Given the description of an element on the screen output the (x, y) to click on. 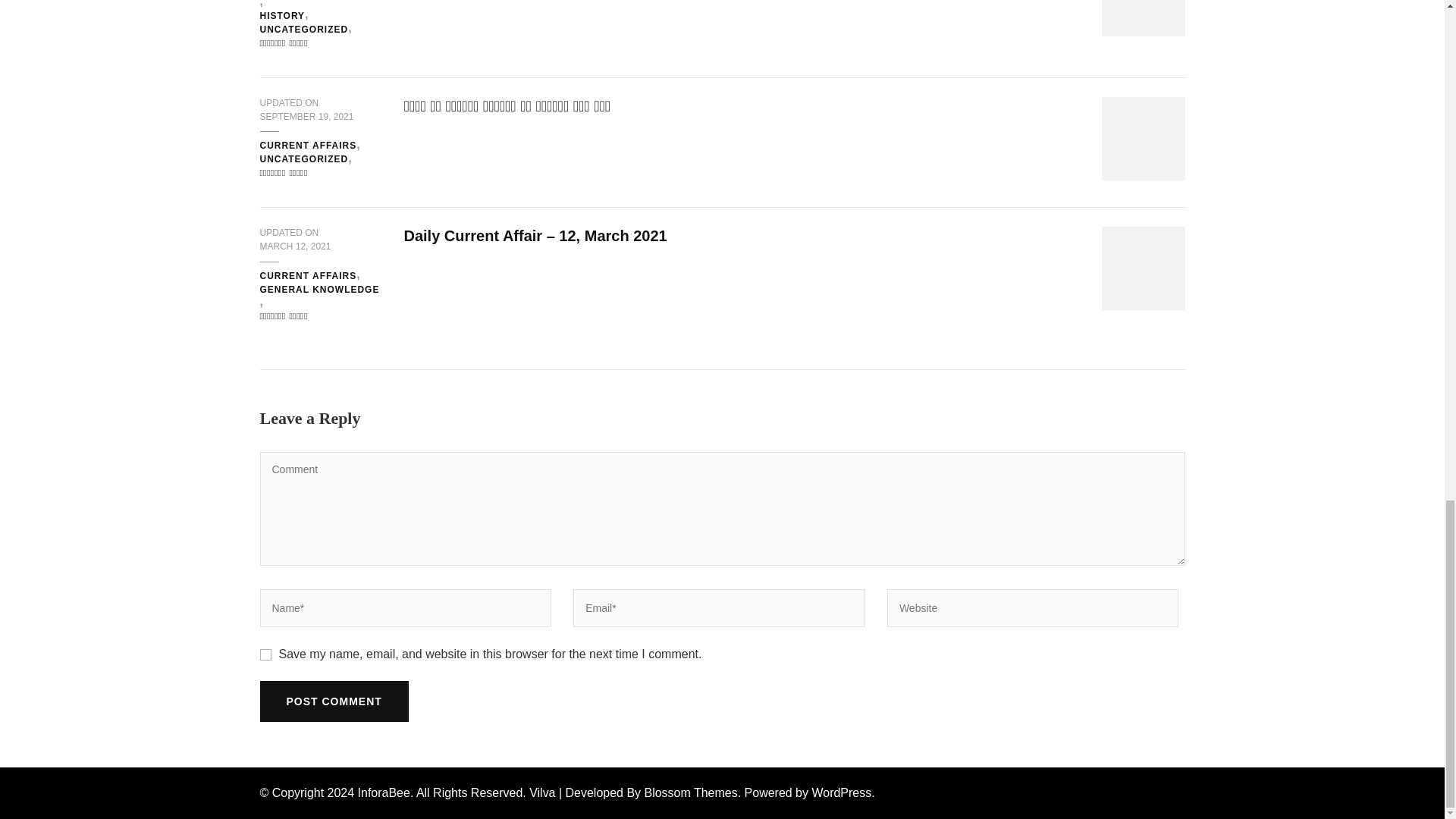
Post Comment (333, 700)
